Given the description of an element on the screen output the (x, y) to click on. 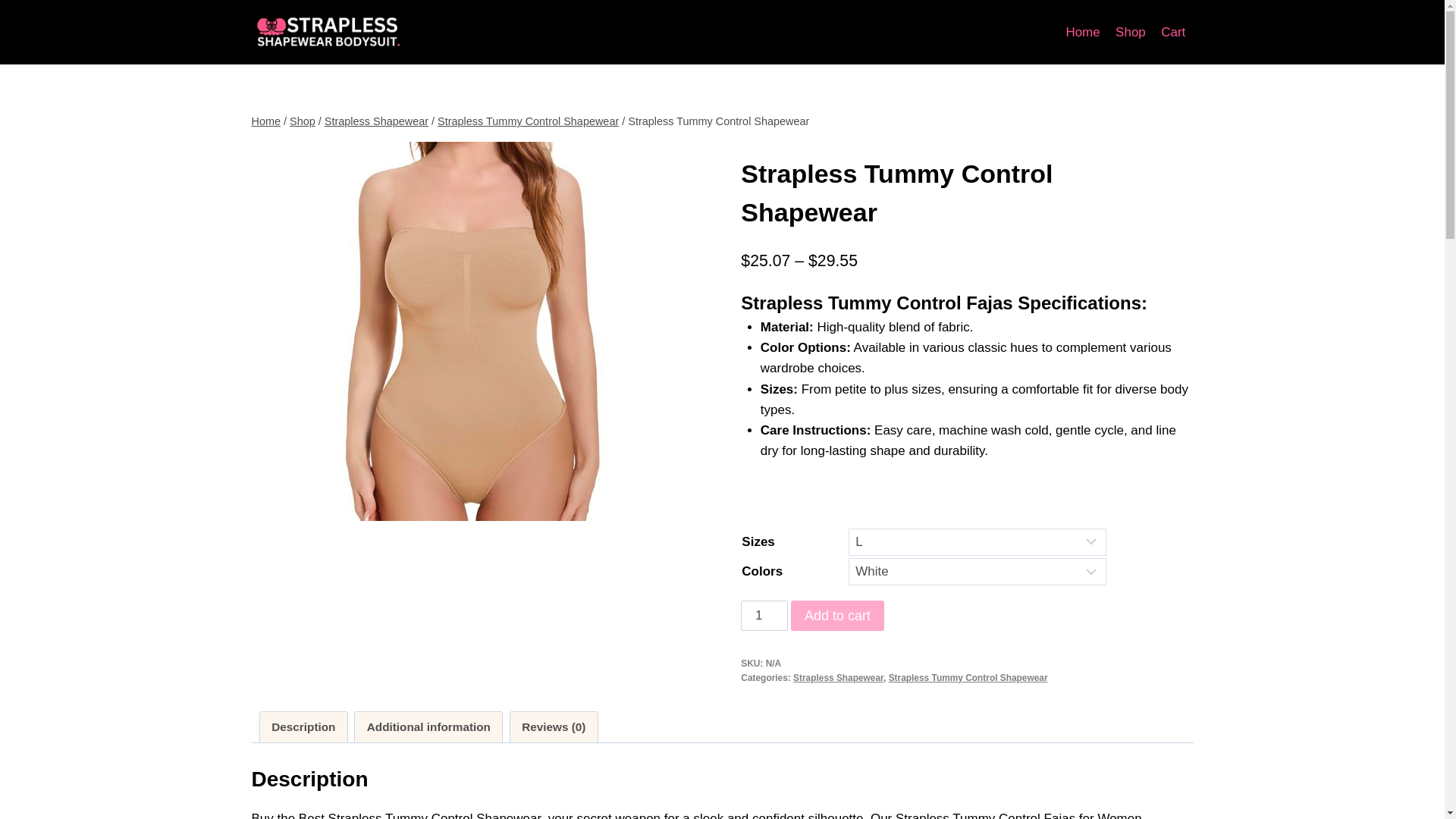
Add to cart (836, 615)
Shop (1130, 32)
Description (303, 726)
Shop (302, 121)
Strapless Tummy Control Shapewear (528, 121)
Strapless Shapewear (376, 121)
Home (1083, 32)
Cart (1173, 32)
Additional information (428, 726)
Home (266, 121)
